Given the description of an element on the screen output the (x, y) to click on. 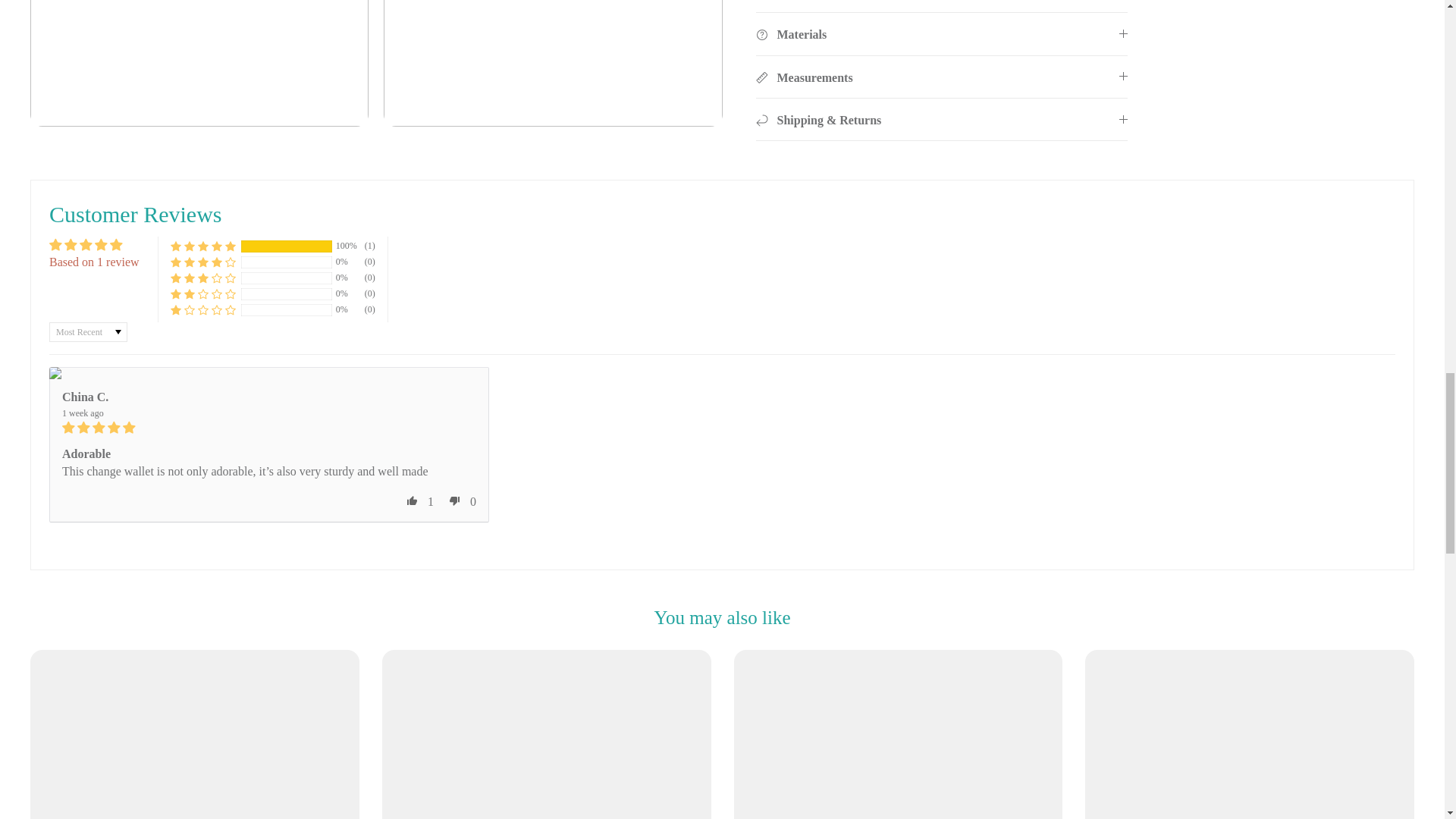
up (412, 499)
down (454, 499)
